Given the description of an element on the screen output the (x, y) to click on. 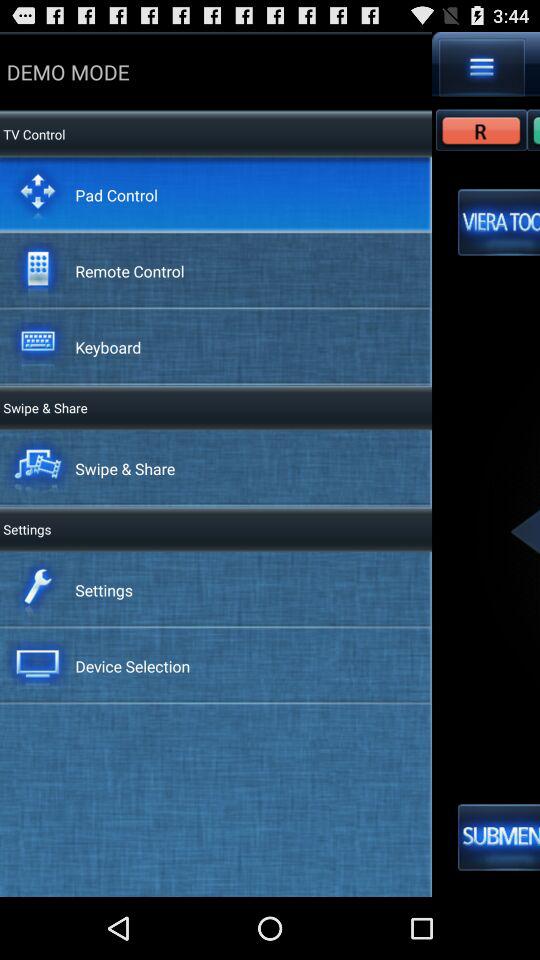
see more options (481, 67)
